Given the description of an element on the screen output the (x, y) to click on. 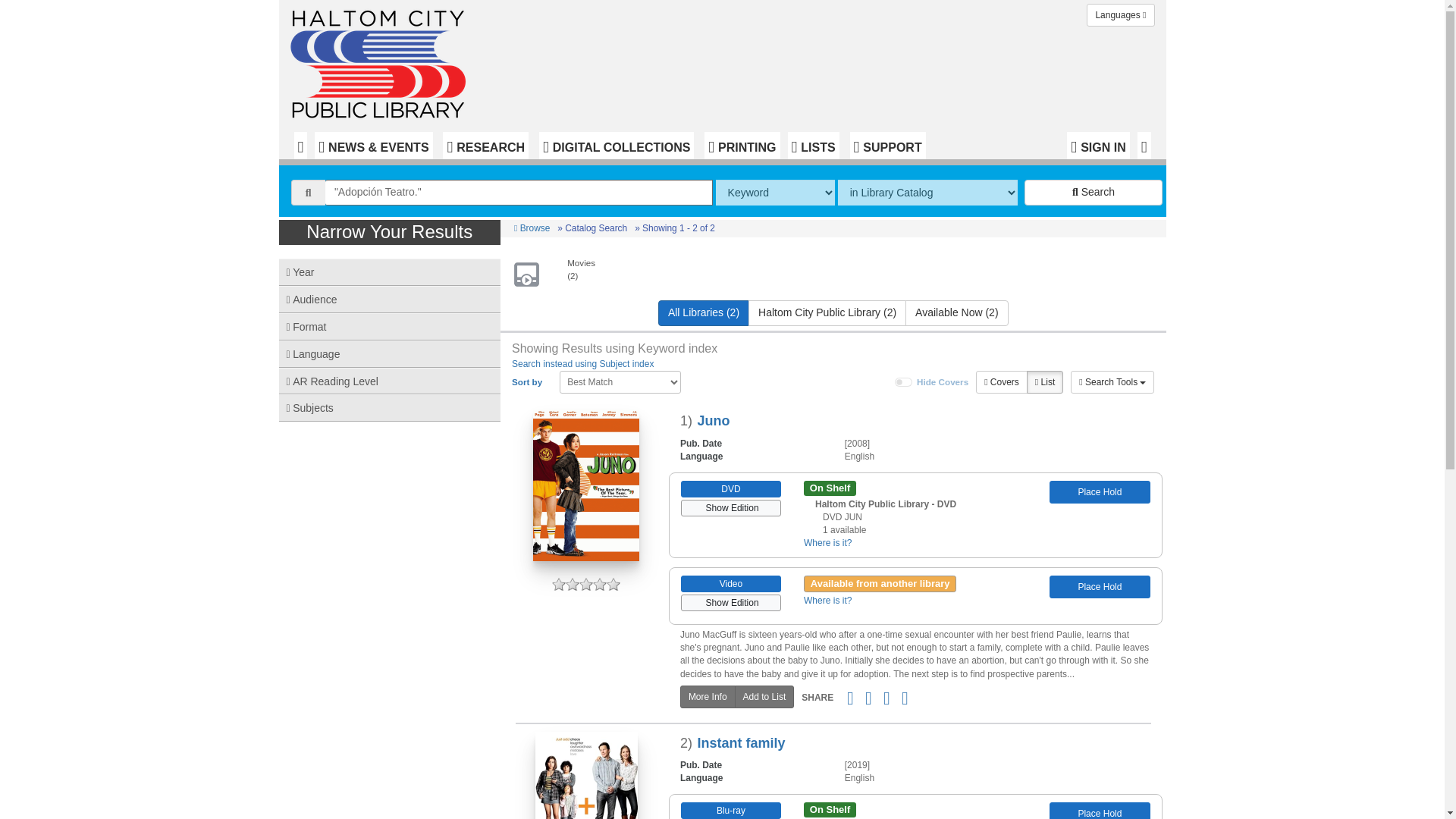
PRINTING (741, 144)
RESEARCH (485, 144)
on (903, 381)
Return to Catalog Home (381, 60)
DIGITAL COLLECTIONS (616, 144)
Languages  (1120, 15)
LISTS (812, 144)
